Given the description of an element on the screen output the (x, y) to click on. 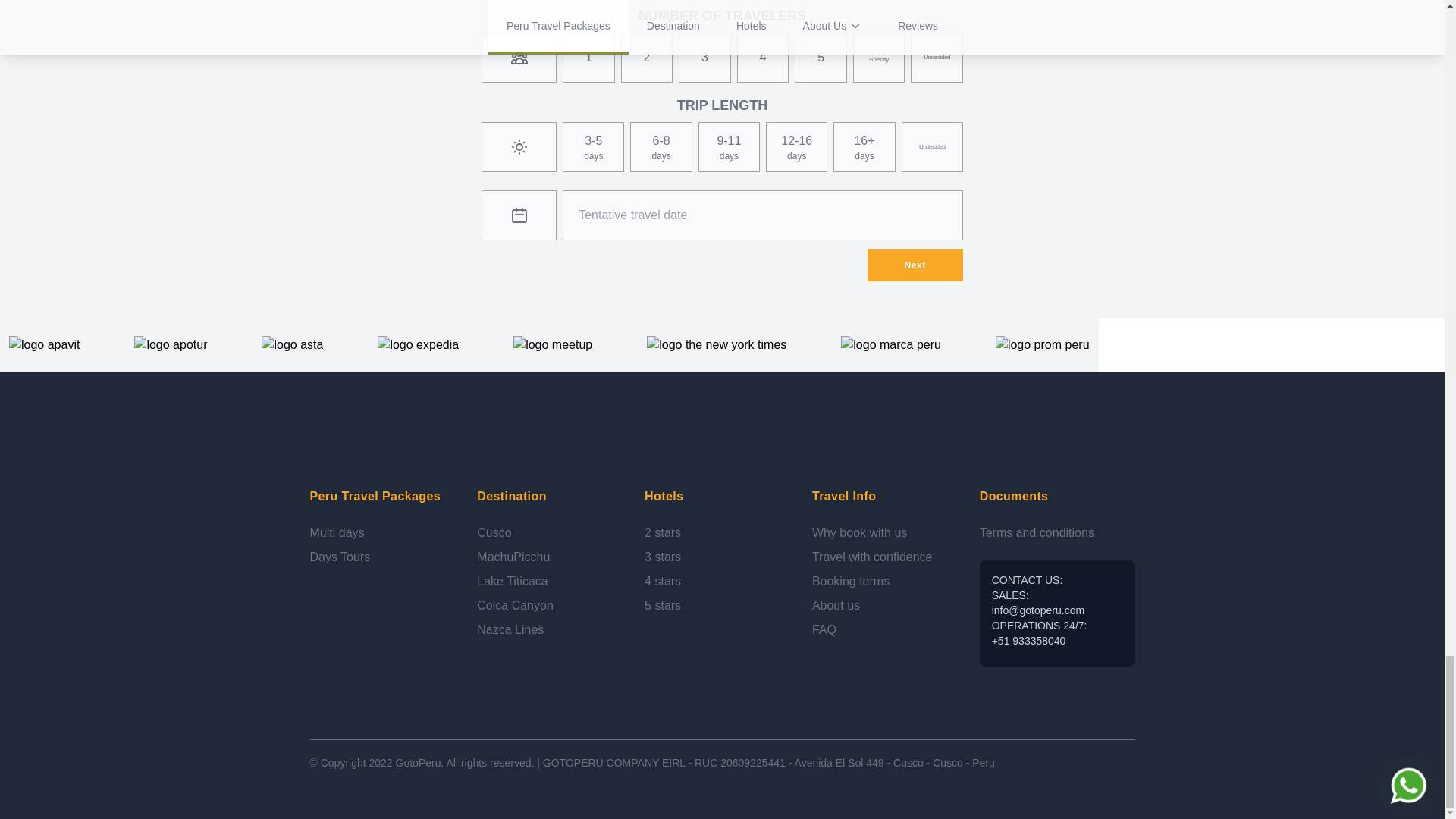
Next (914, 265)
